Given the description of an element on the screen output the (x, y) to click on. 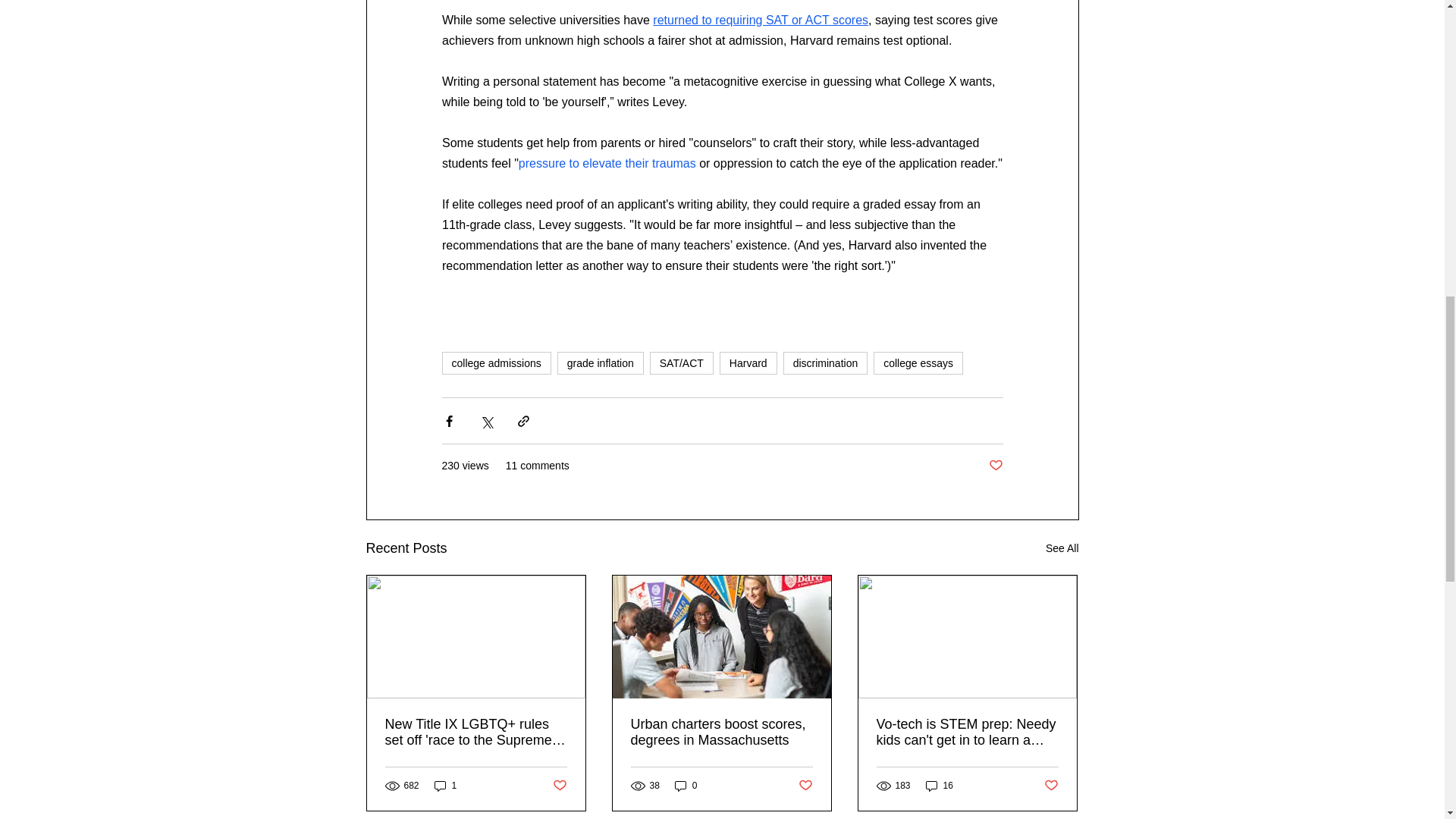
0 (685, 785)
college essays (917, 363)
discrimination (825, 363)
See All (1061, 548)
Post not marked as liked (1050, 785)
Post not marked as liked (995, 465)
1 (445, 785)
returned to requiring SAT or ACT scores (759, 19)
pressure to elevate their traumas (606, 162)
Post not marked as liked (558, 785)
16 (939, 785)
Urban charters boost scores, degrees in Massachusetts (721, 732)
Post not marked as liked (804, 785)
grade inflation (600, 363)
